Given the description of an element on the screen output the (x, y) to click on. 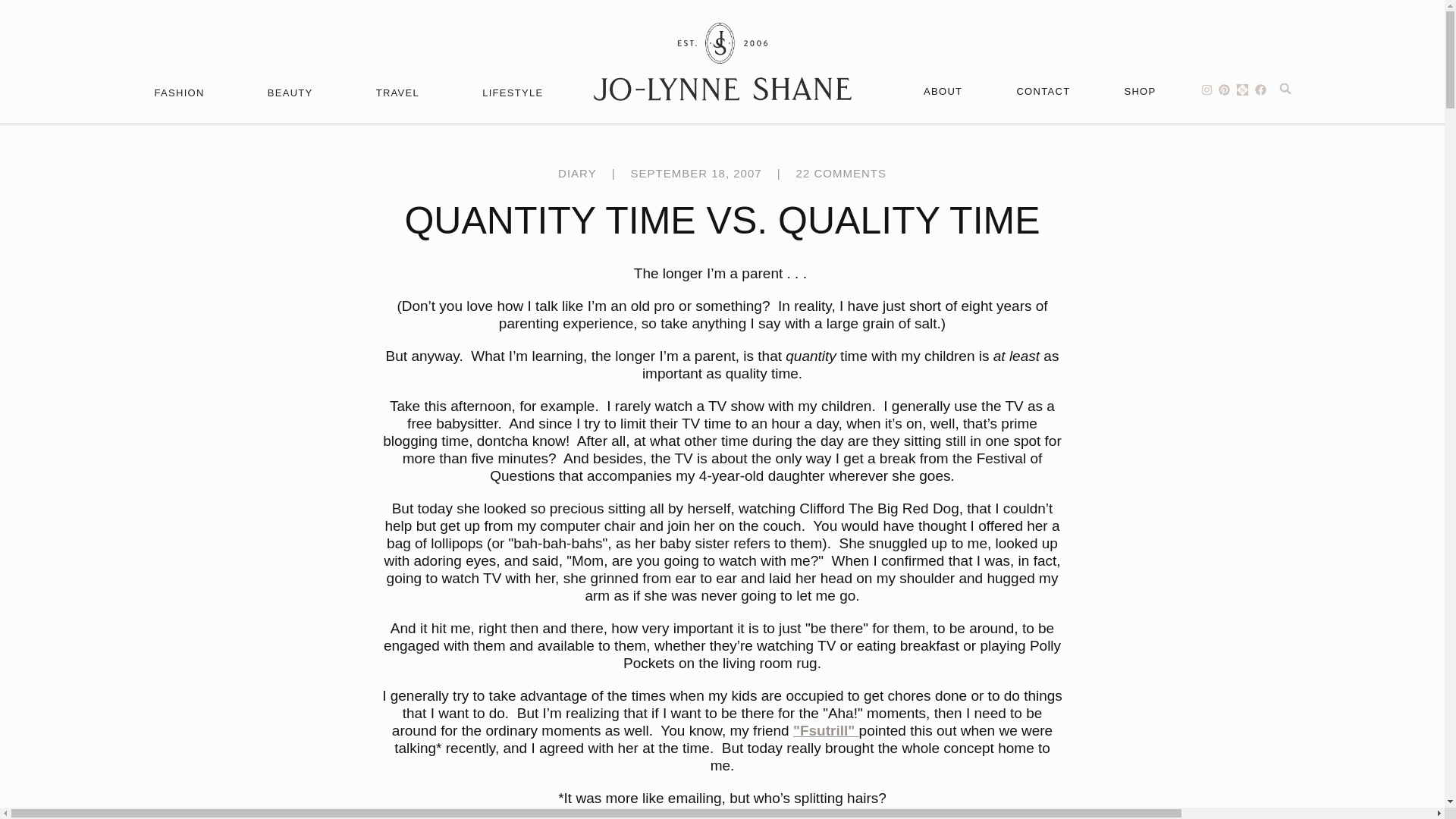
FASHION (179, 92)
BEAUTY (290, 92)
